Given the description of an element on the screen output the (x, y) to click on. 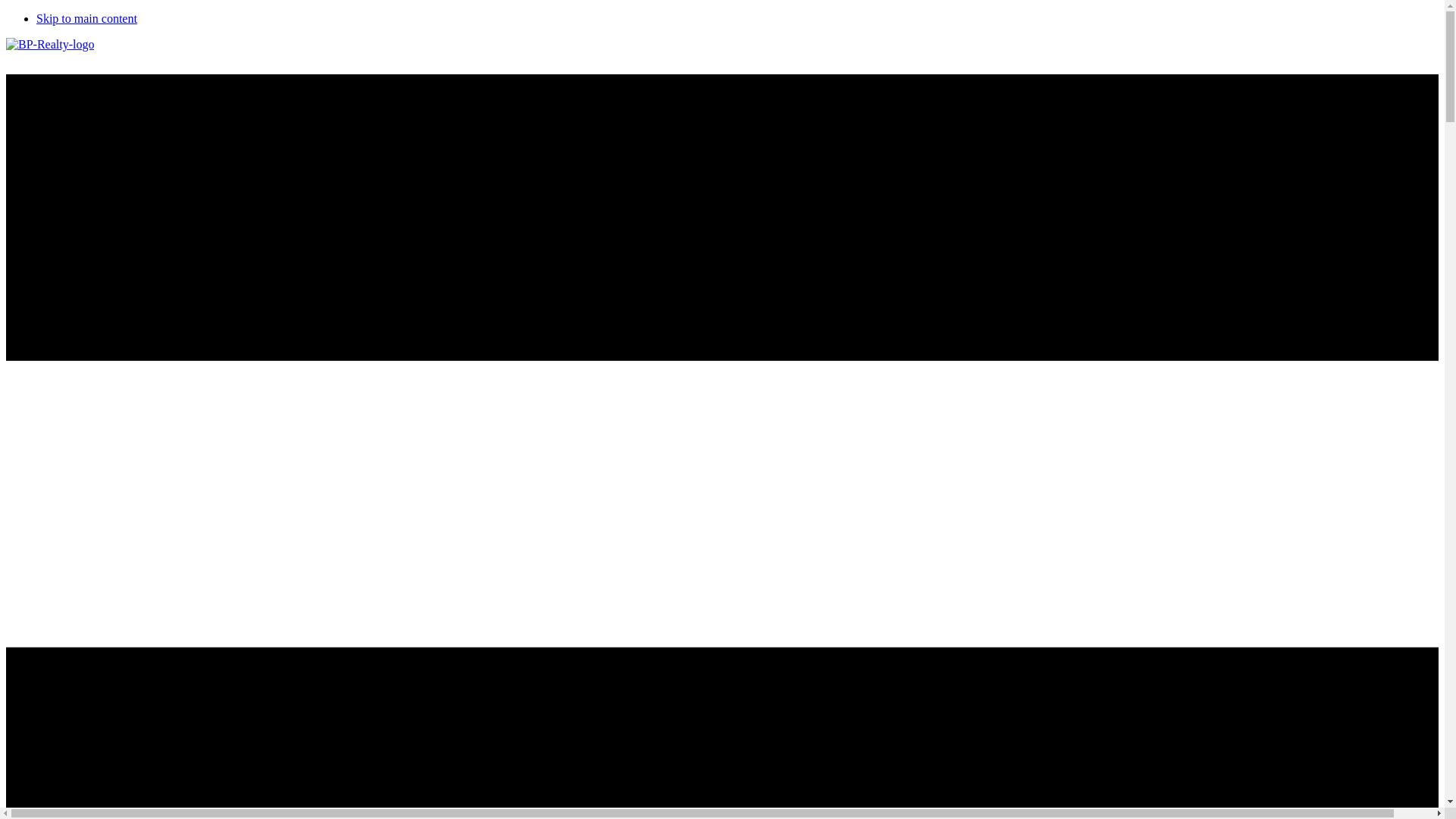
Skip to main content (86, 18)
BP-Realty-logo (49, 44)
